Given the description of an element on the screen output the (x, y) to click on. 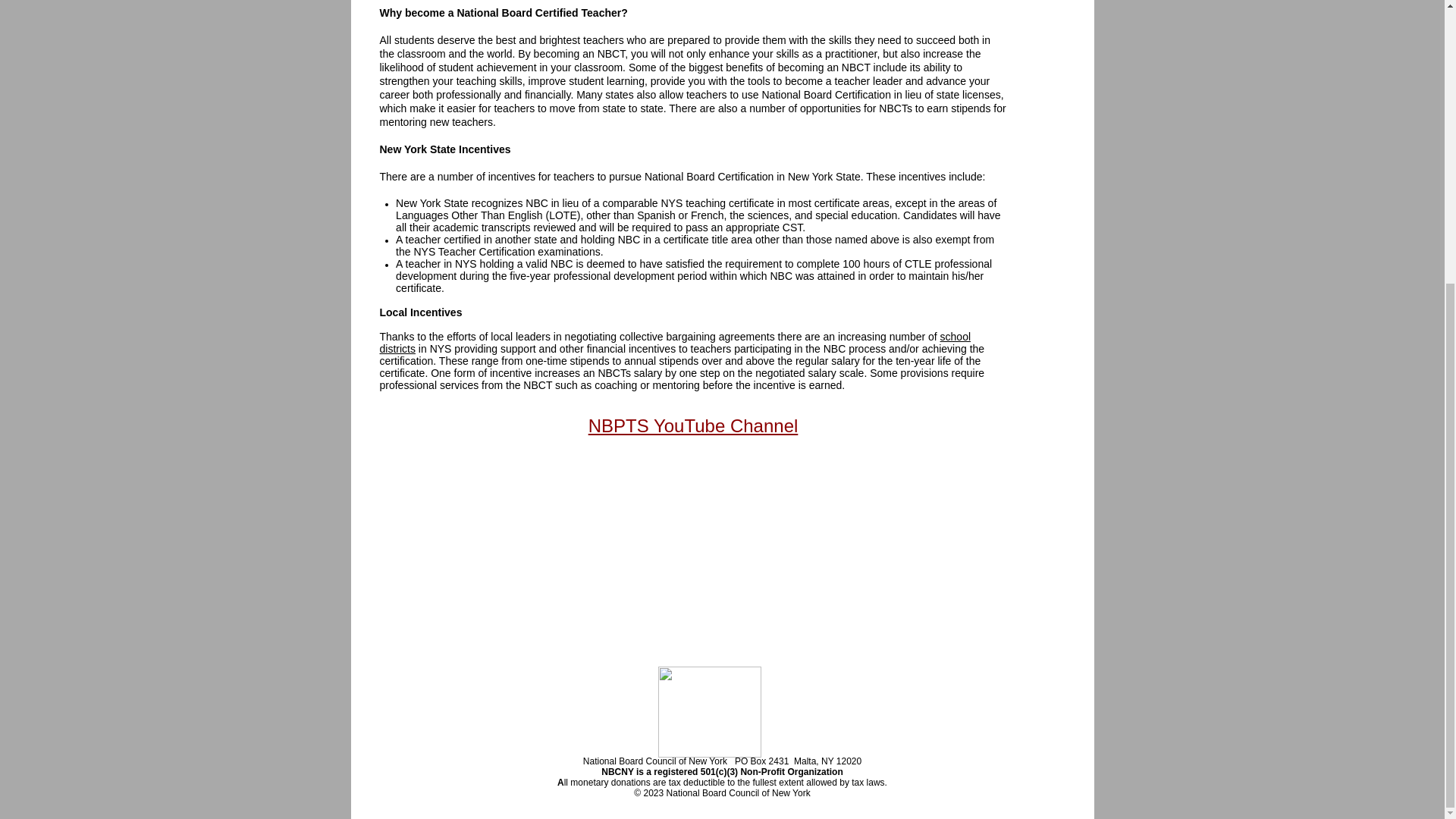
External YouTube (723, 20)
school districts (674, 342)
NBPTS YouTube Channel (692, 425)
